Given the description of an element on the screen output the (x, y) to click on. 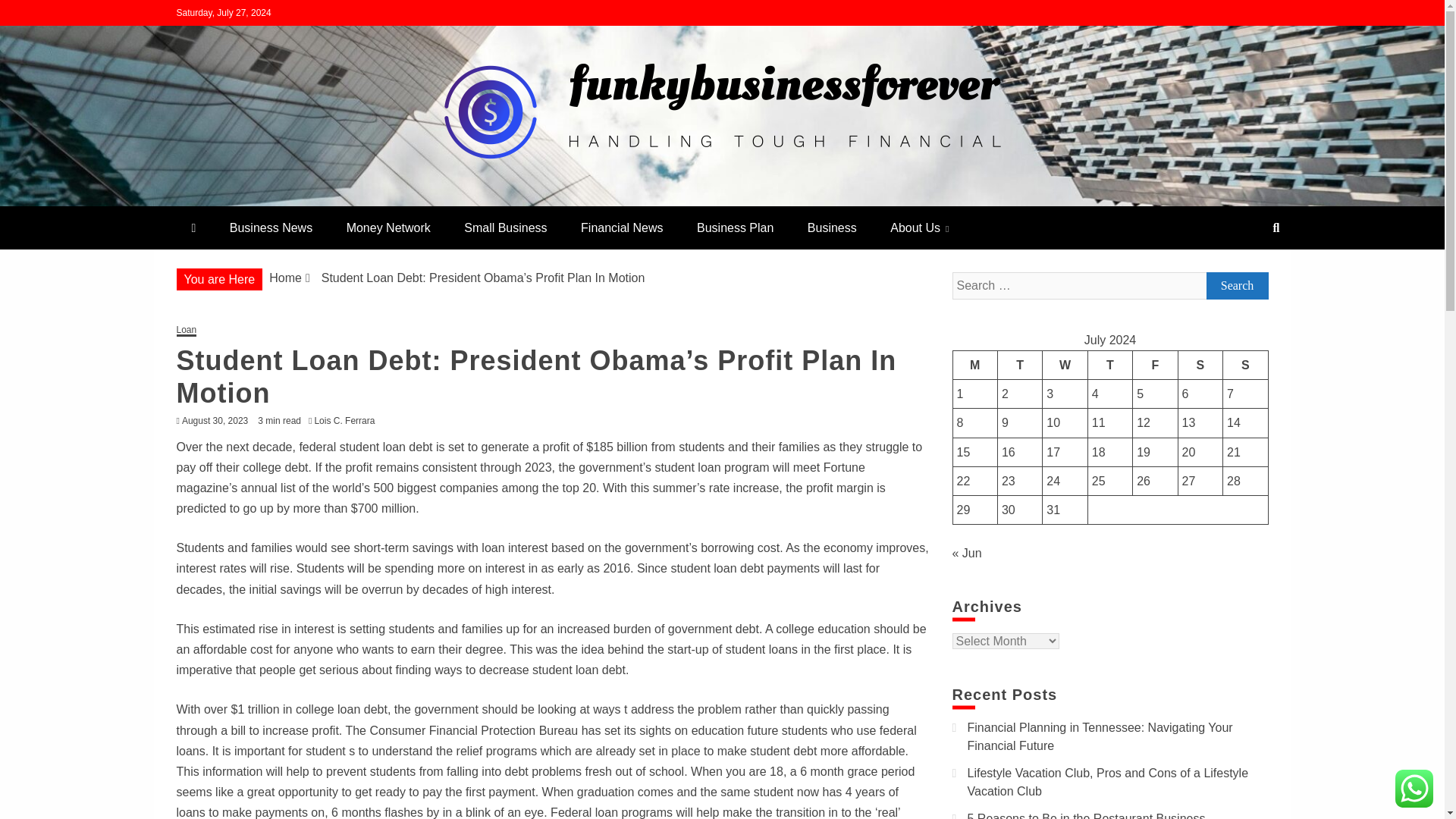
Financial News (622, 227)
Thursday (1109, 364)
Saturday (1200, 364)
Tuesday (1019, 364)
Wednesday (1064, 364)
Home (285, 277)
Small Business (505, 227)
Money Network (388, 227)
Business Plan (735, 227)
Business (832, 227)
Funkybusinessforever (328, 199)
August 30, 2023 (214, 420)
Search (31, 13)
Friday (1154, 364)
Monday (974, 364)
